Given the description of an element on the screen output the (x, y) to click on. 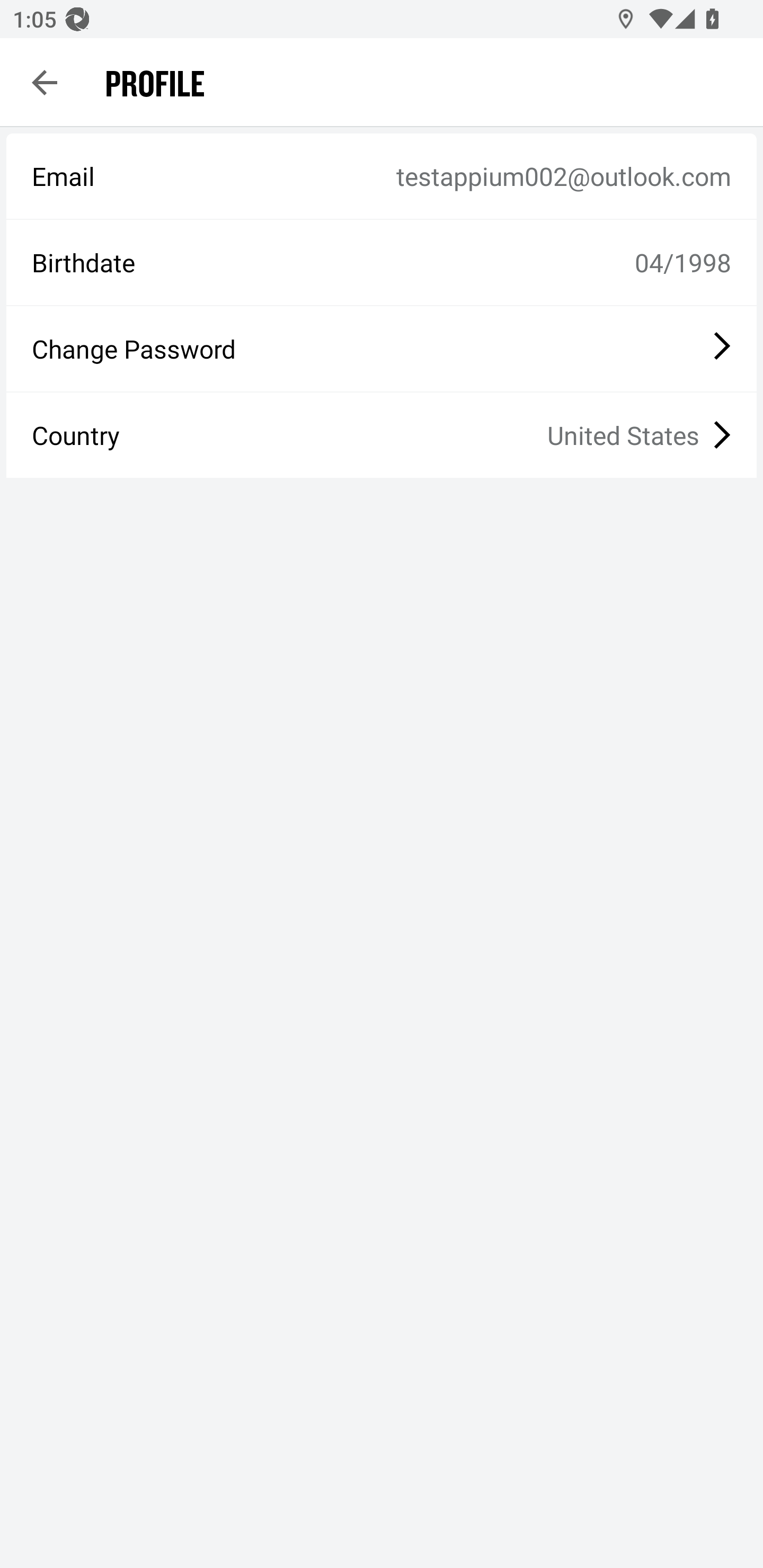
Navigate up (44, 82)
Change Password (381, 348)
United States (437, 435)
